Given the description of an element on the screen output the (x, y) to click on. 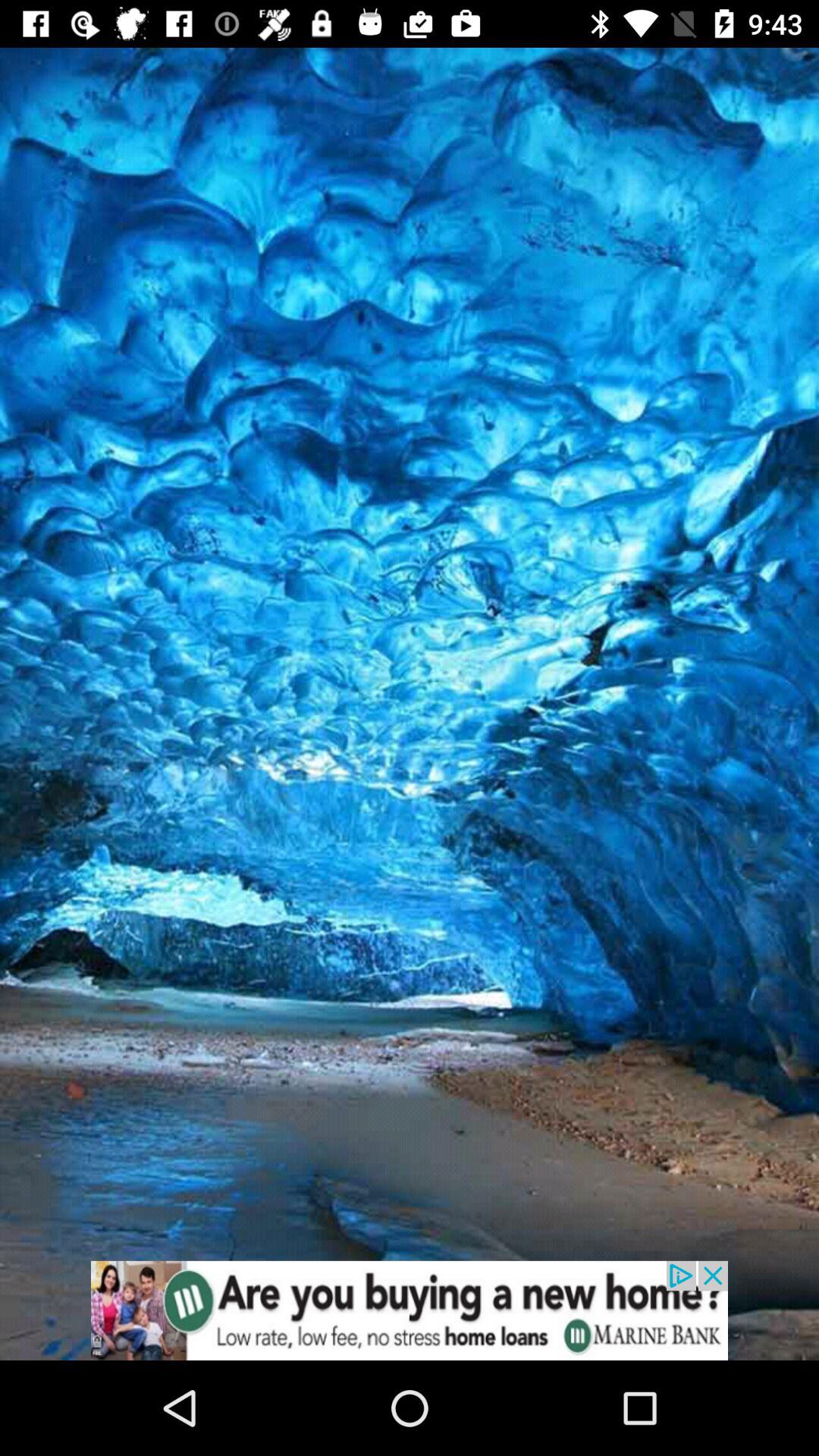
share the article (409, 1310)
